Given the description of an element on the screen output the (x, y) to click on. 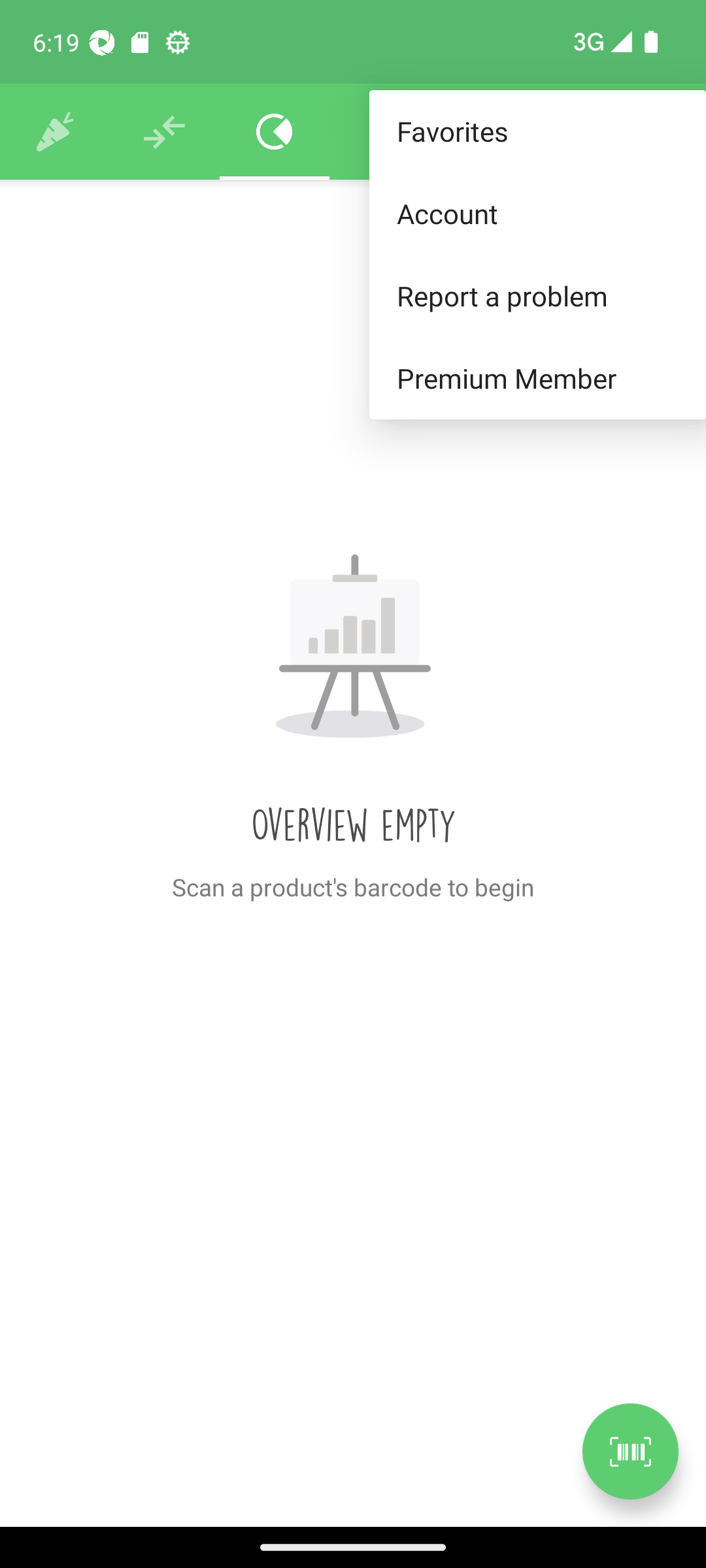
Favorites (537, 131)
Account (537, 213)
Report a problem (537, 295)
Premium Member (537, 378)
